Given the description of an element on the screen output the (x, y) to click on. 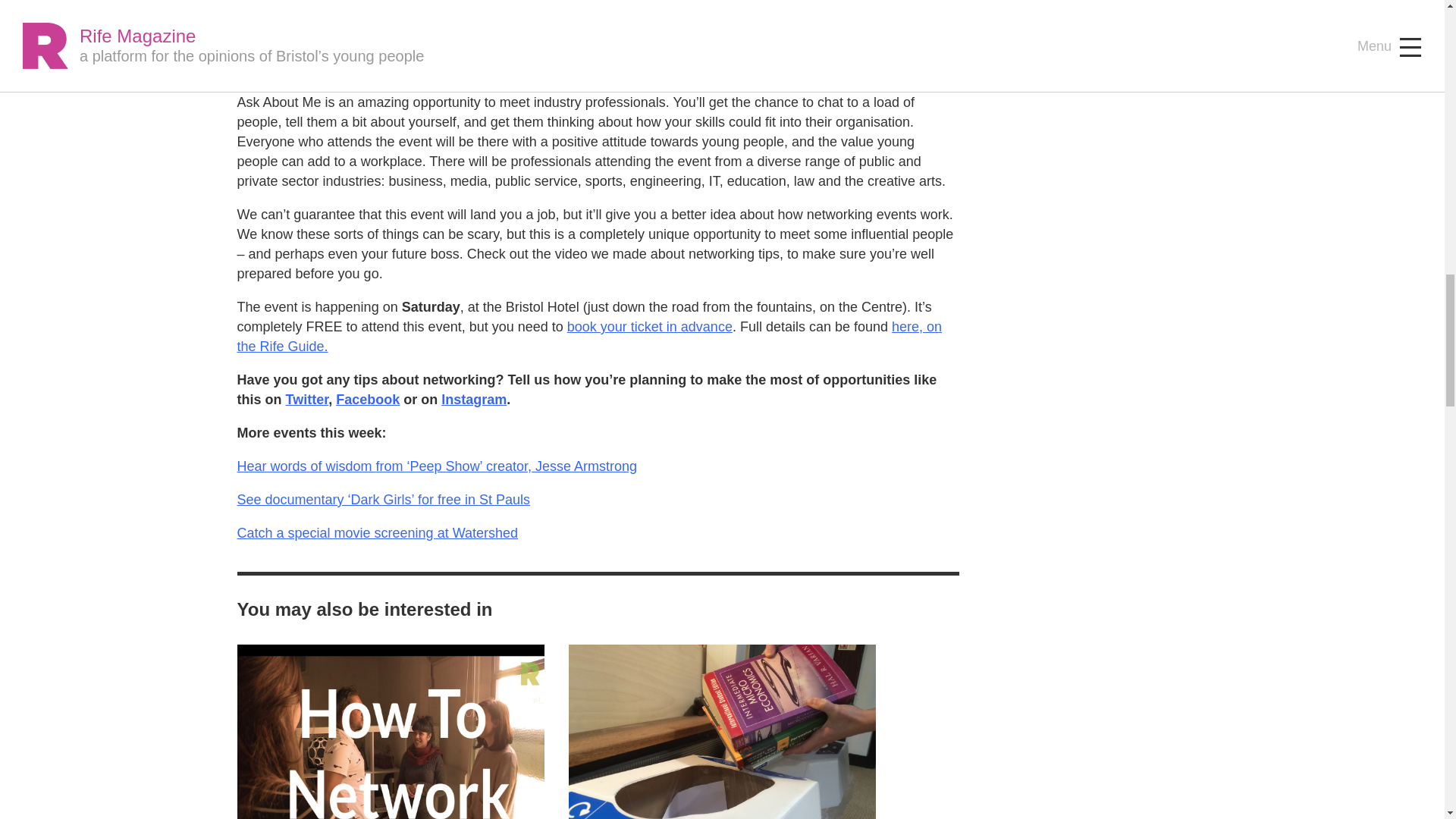
Instagram (473, 399)
Catch a special movie screening at Watershed (376, 532)
here, on the Rife Guide. (588, 336)
book your ticket in advance (649, 326)
Facebook (367, 399)
Twitter (307, 399)
